Given the description of an element on the screen output the (x, y) to click on. 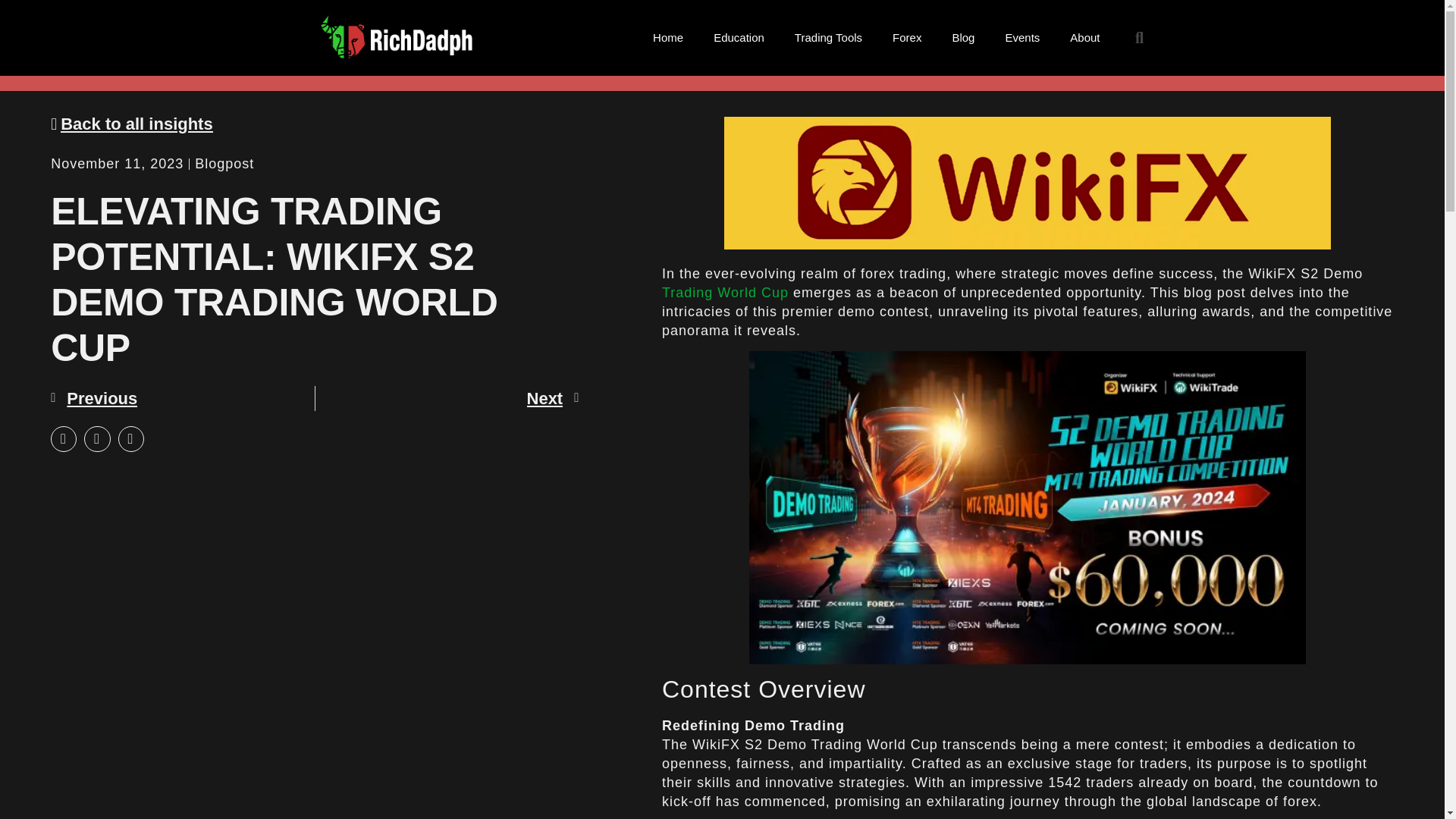
Education (738, 38)
Trading Tools (827, 38)
